Given the description of an element on the screen output the (x, y) to click on. 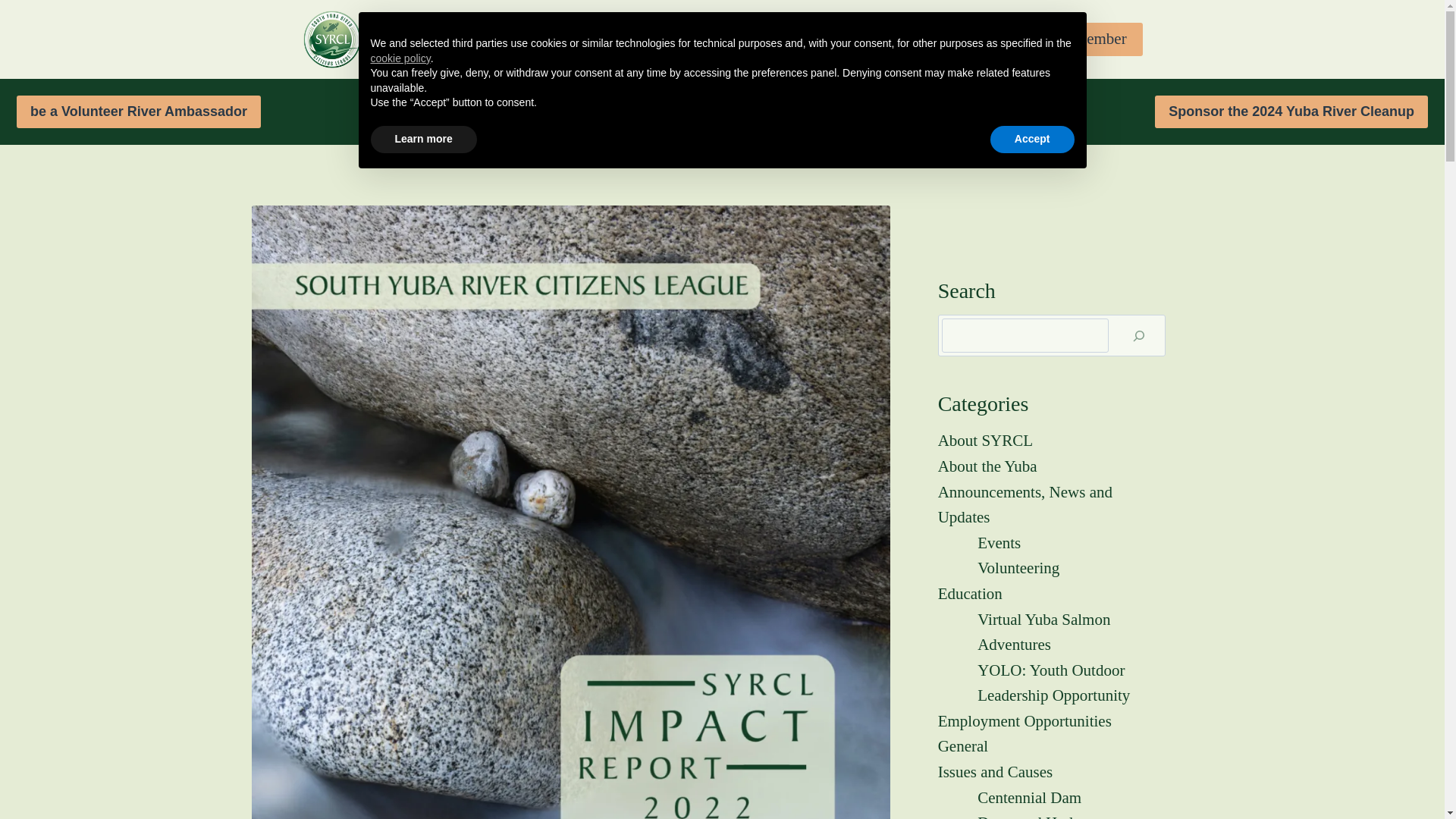
Become a Member (1066, 39)
Donate (611, 38)
be a Volunteer River Ambassador (138, 111)
Sponsor the 2024 Yuba River Cleanup (1291, 111)
Attend an Event (517, 38)
About (419, 38)
Volunteer (679, 38)
Search (927, 38)
